Given the description of an element on the screen output the (x, y) to click on. 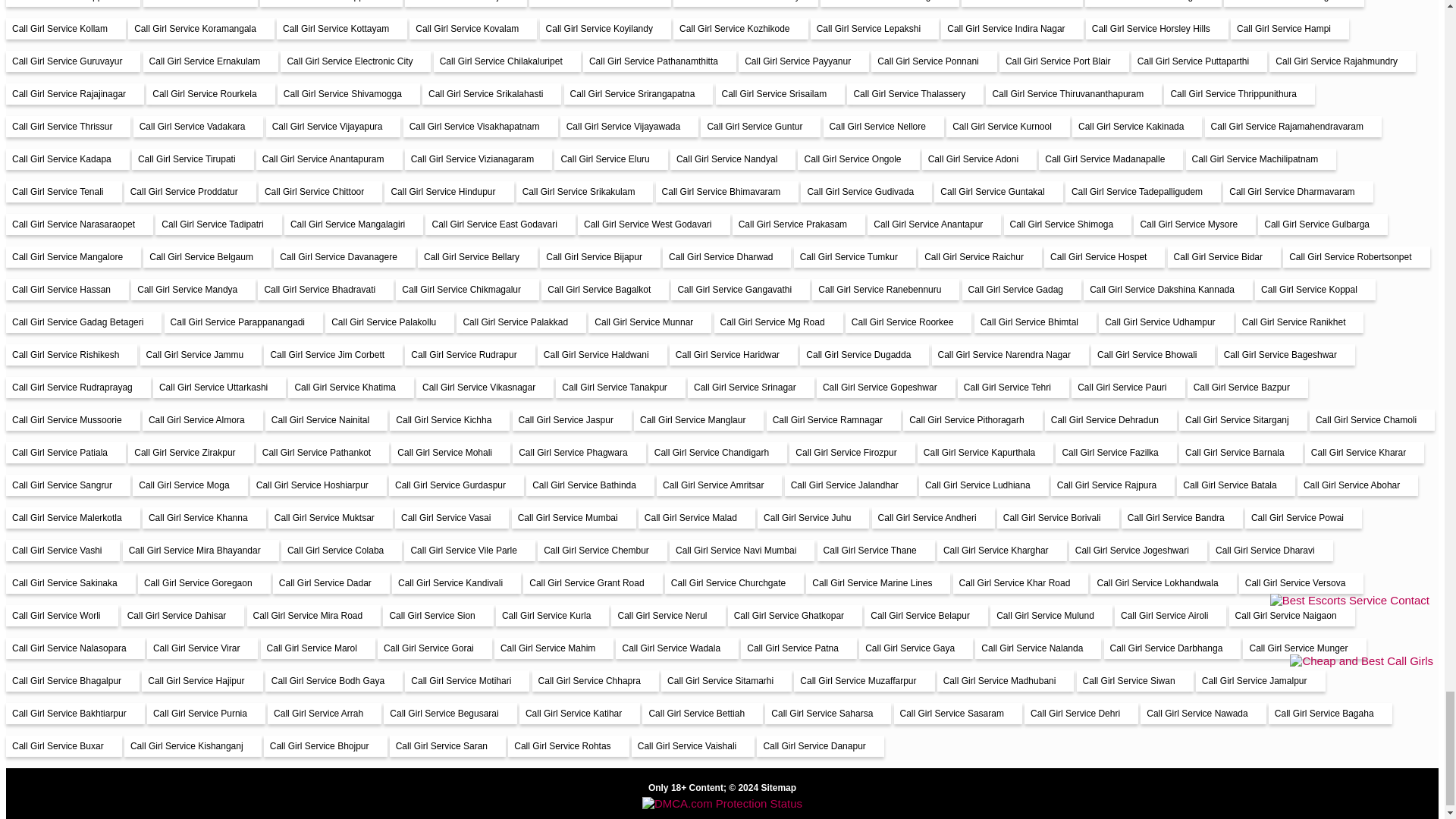
DMCA.com Protection Status (722, 802)
